Given the description of an element on the screen output the (x, y) to click on. 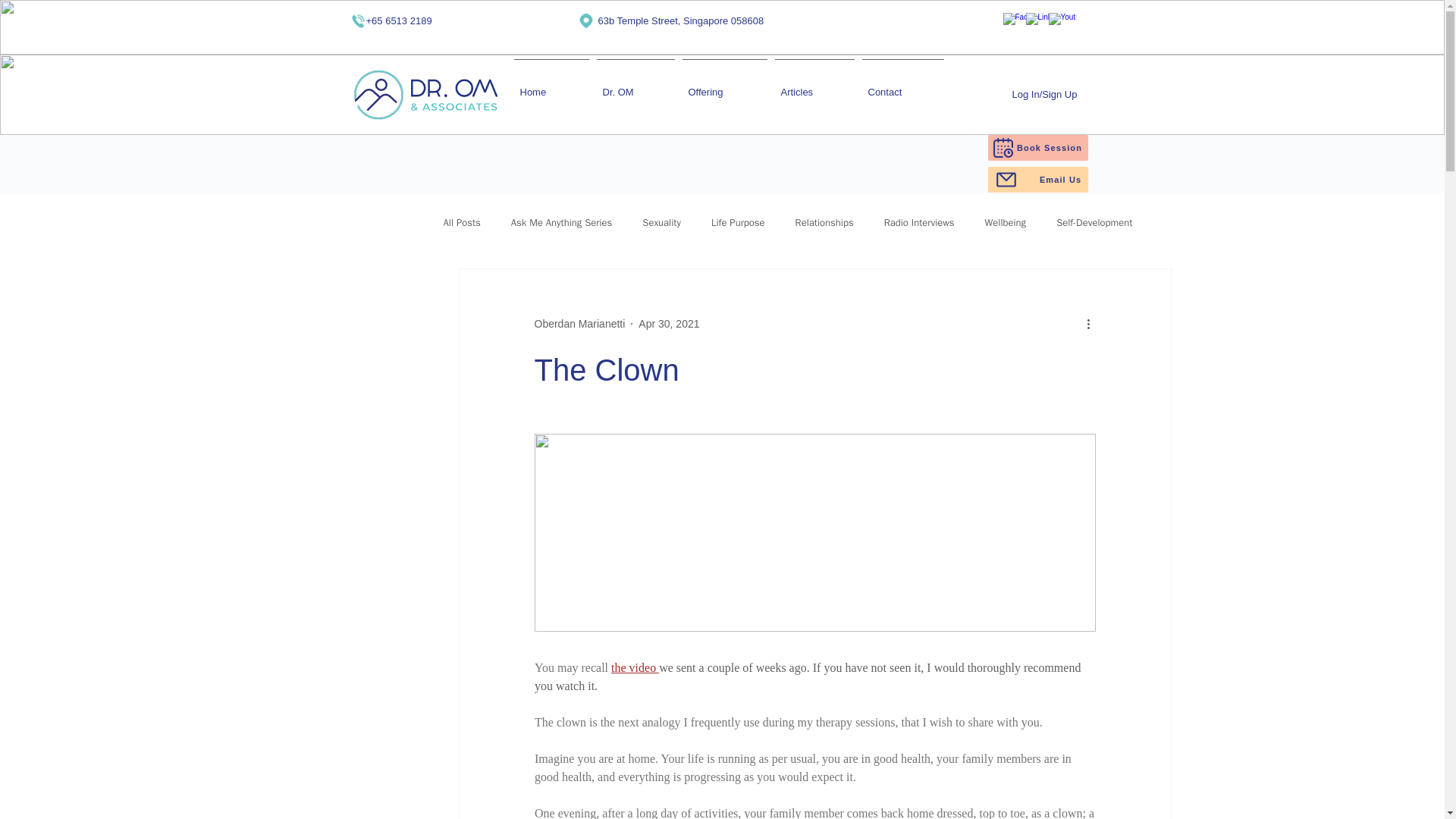
Book Session (1037, 147)
Oberdan Marianetti (579, 323)
Offering (724, 84)
Contact (903, 84)
Life Purpose (738, 223)
All Posts (461, 223)
Apr 30, 2021 (668, 322)
Radio Interviews (919, 223)
Home (550, 84)
Sexuality (661, 223)
